Given the description of an element on the screen output the (x, y) to click on. 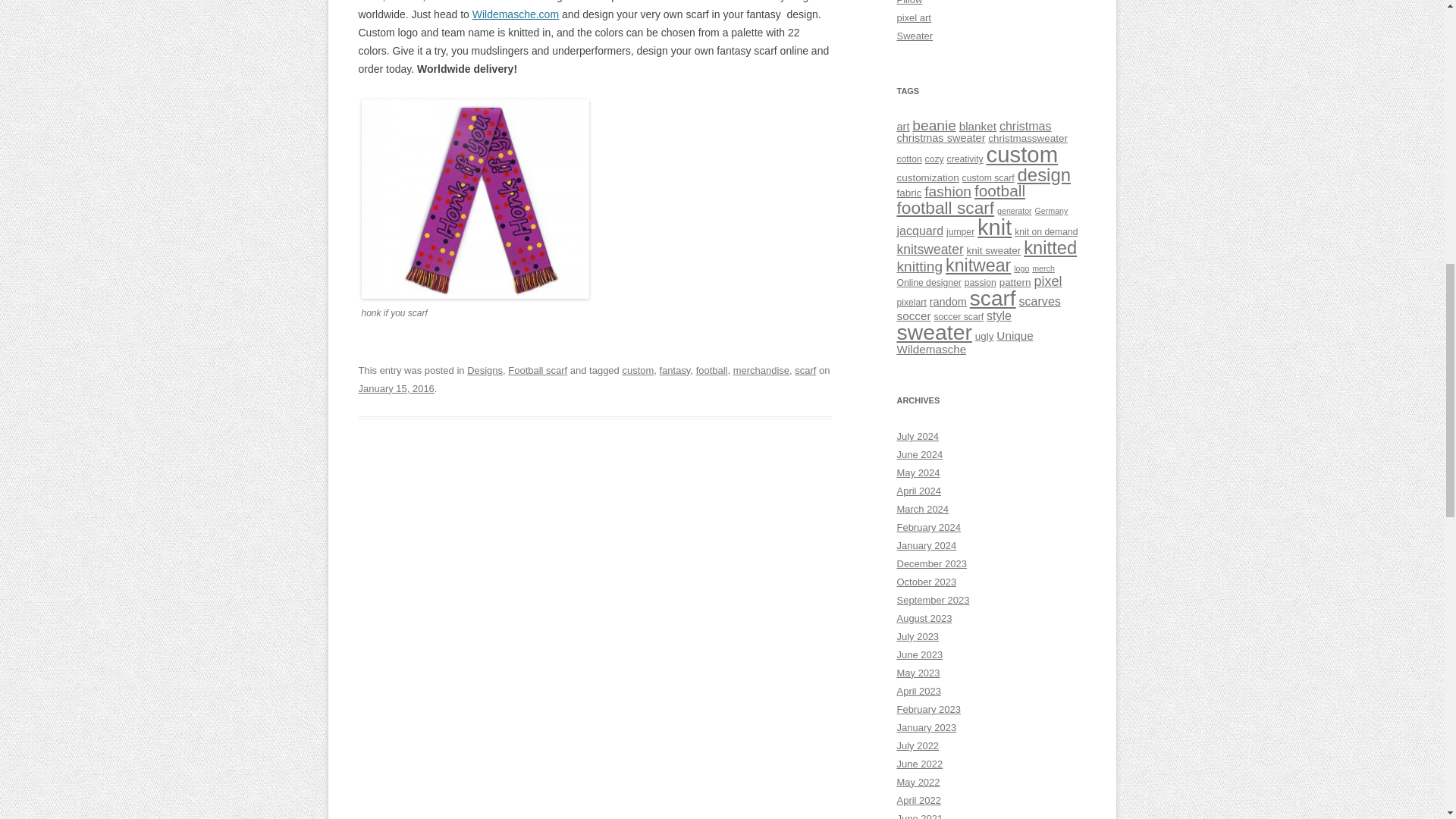
15:53 (395, 388)
scarf (804, 369)
Wildemasche.com (515, 14)
merchandise (761, 369)
football (711, 369)
fantasy (674, 369)
January 15, 2016 (395, 388)
Football scarf (537, 369)
Designs (484, 369)
custom (637, 369)
